Given the description of an element on the screen output the (x, y) to click on. 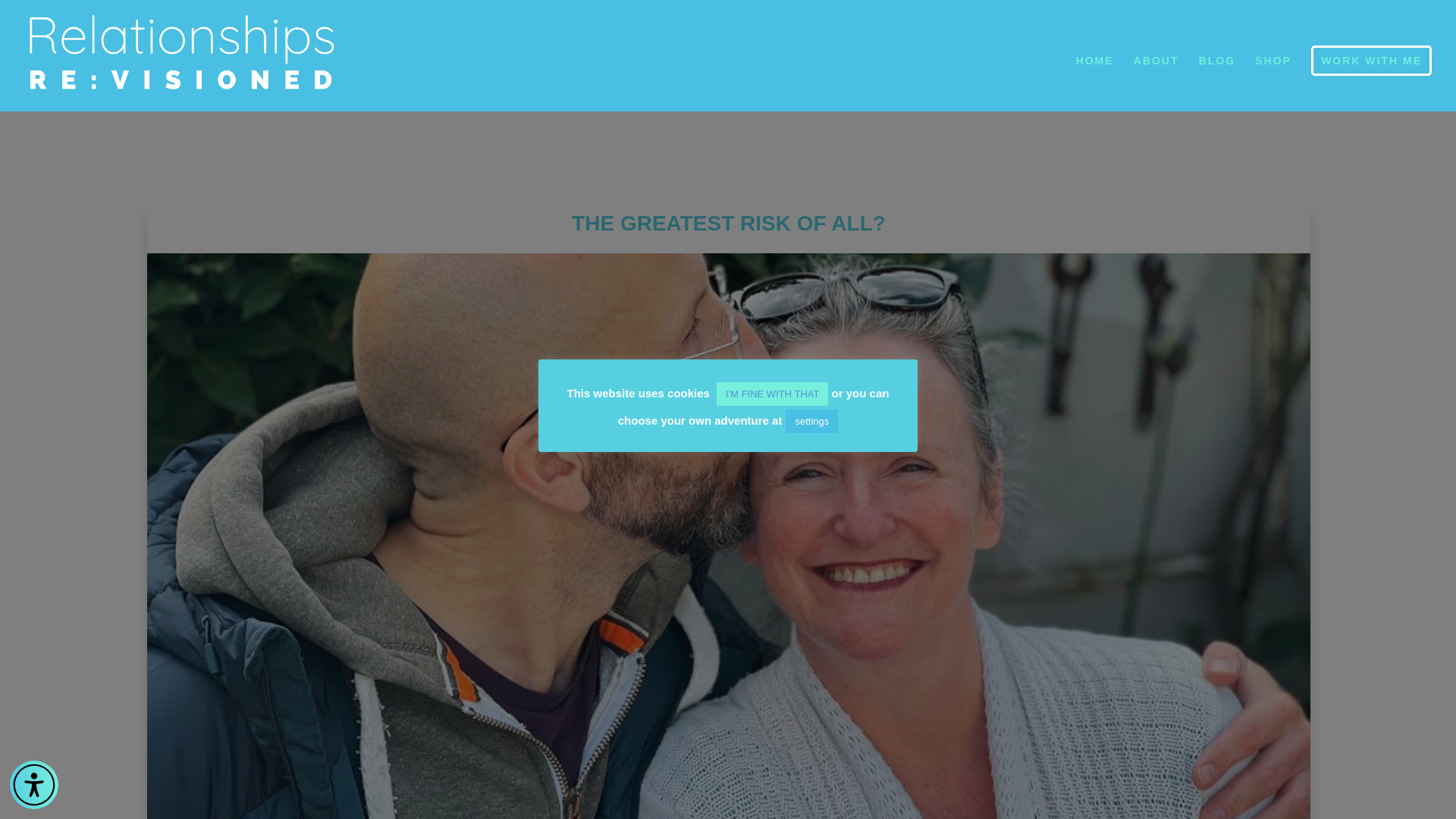
HOME (1094, 83)
SHOP (1273, 83)
Accessibility Menu (34, 784)
ABOUT (1156, 83)
WORK WITH ME (1371, 60)
BLOG (1216, 83)
